Given the description of an element on the screen output the (x, y) to click on. 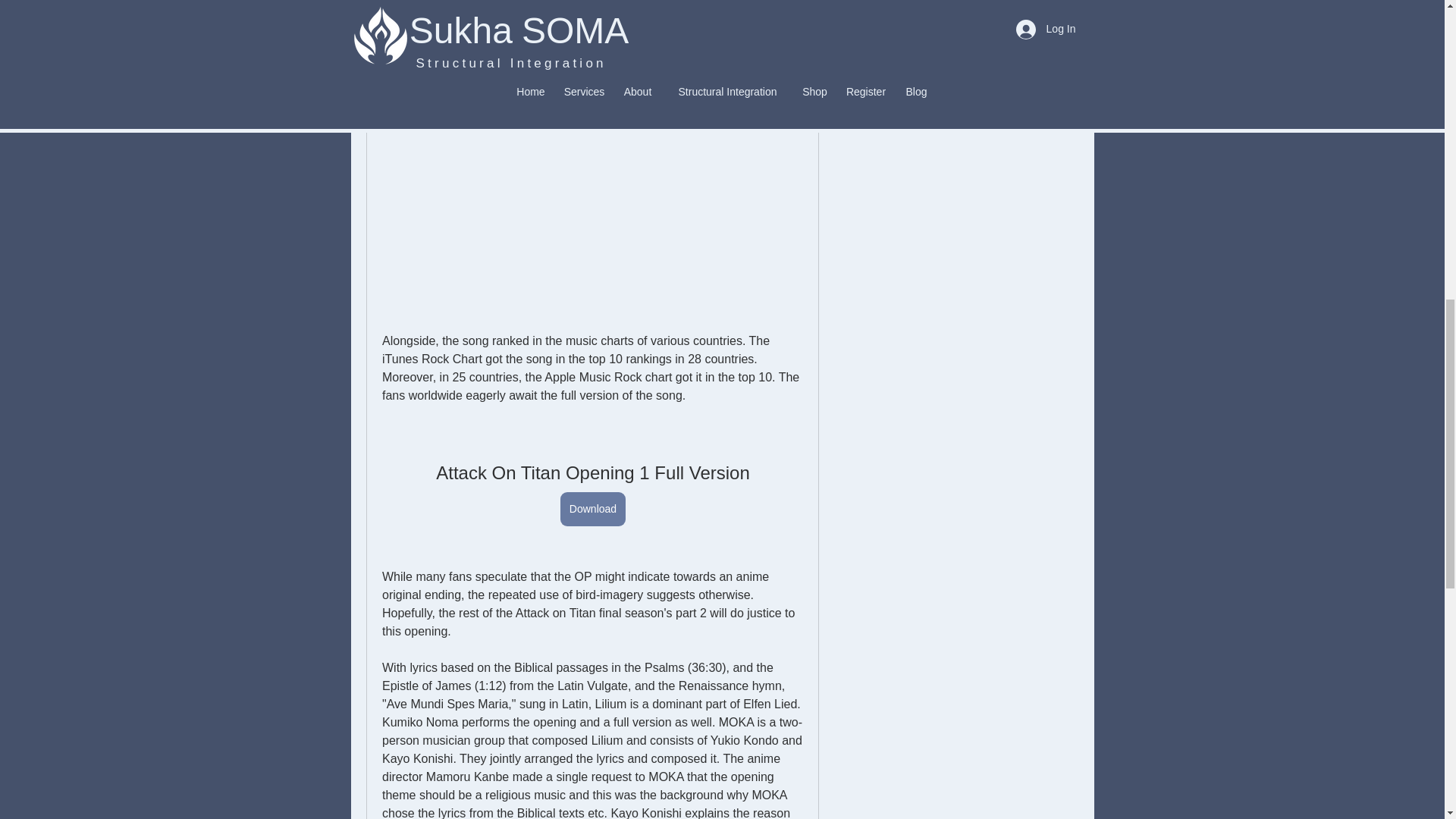
Download (591, 509)
Valac Chonsa (923, 18)
Valac Chonsa (863, 19)
Follow (1044, 20)
